Given the description of an element on the screen output the (x, y) to click on. 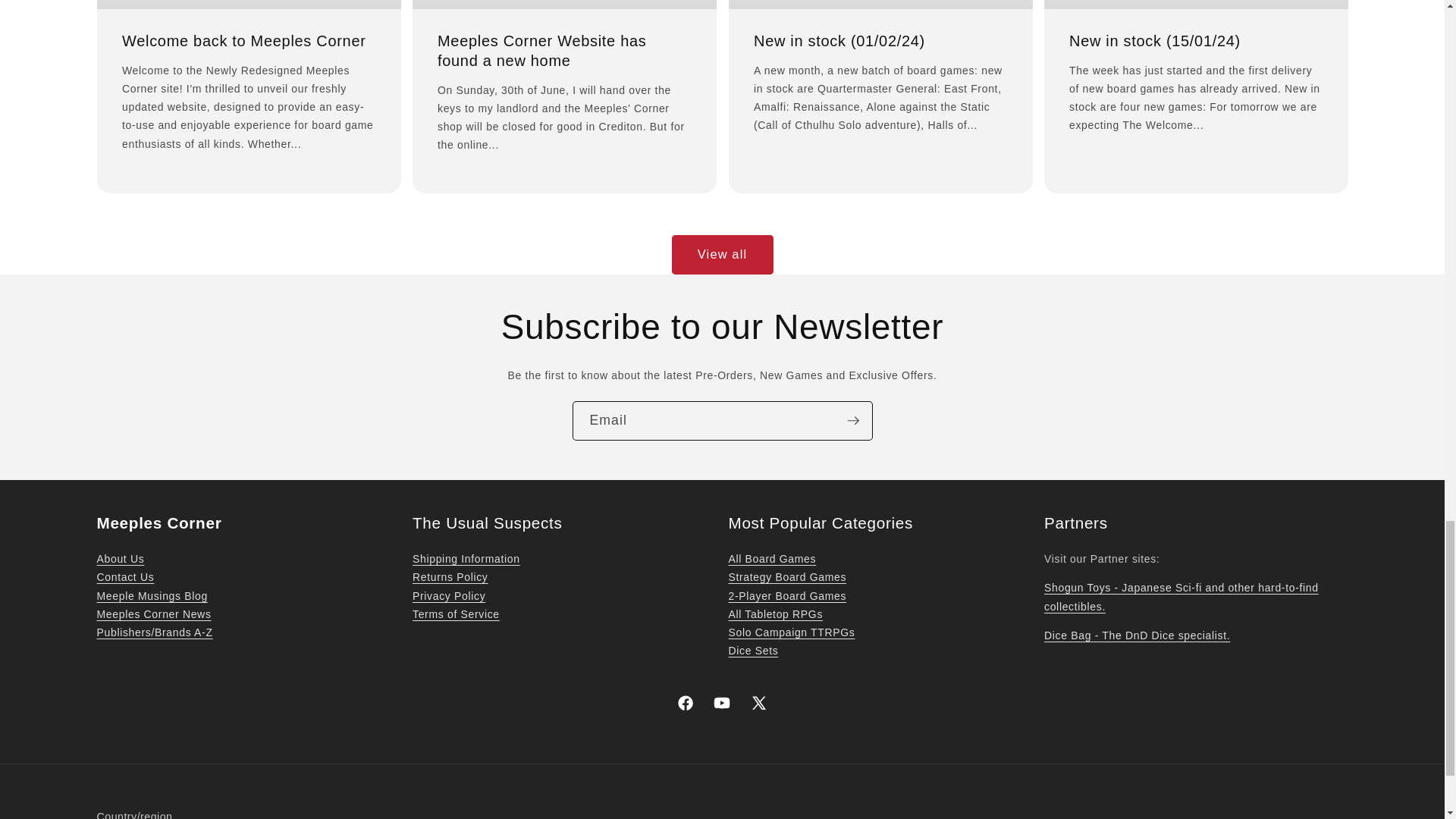
Contact (125, 576)
Meeple Musings (152, 595)
Strategy Board Games (786, 576)
Dice Bag (1136, 635)
2 Player Board Games (786, 595)
Solo Campaign TTRPGs (791, 632)
Dice Sets (752, 650)
Refund Policy (449, 576)
About Us (120, 558)
A-Z of Game Publishers and Gaming Brands (154, 632)
Shipping Policy (465, 558)
Shogun Toys (1181, 596)
TTRPGs (775, 613)
Terms of Service (455, 613)
Privacy Policy (448, 595)
